Given the description of an element on the screen output the (x, y) to click on. 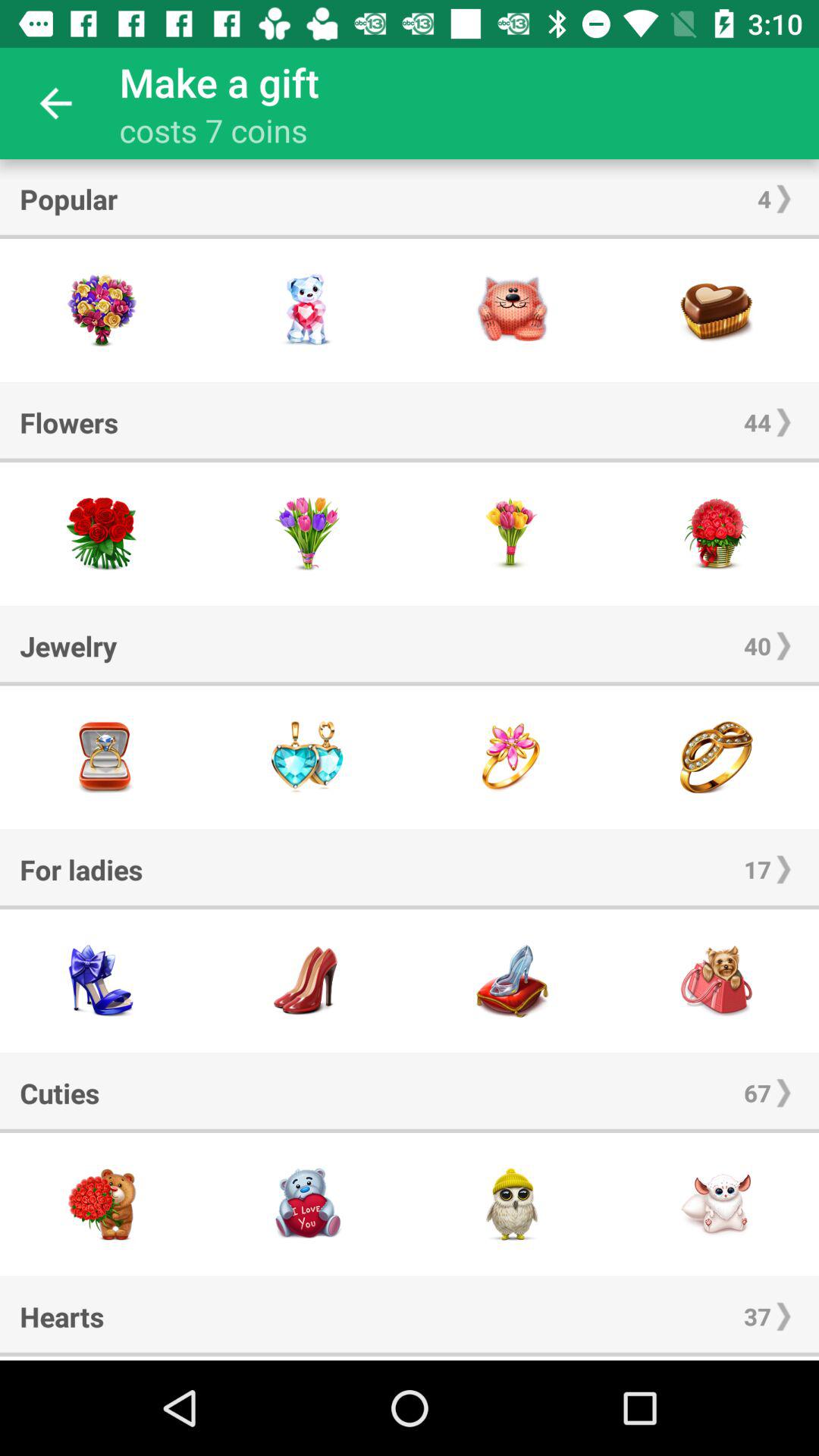
select this item (716, 310)
